Given the description of an element on the screen output the (x, y) to click on. 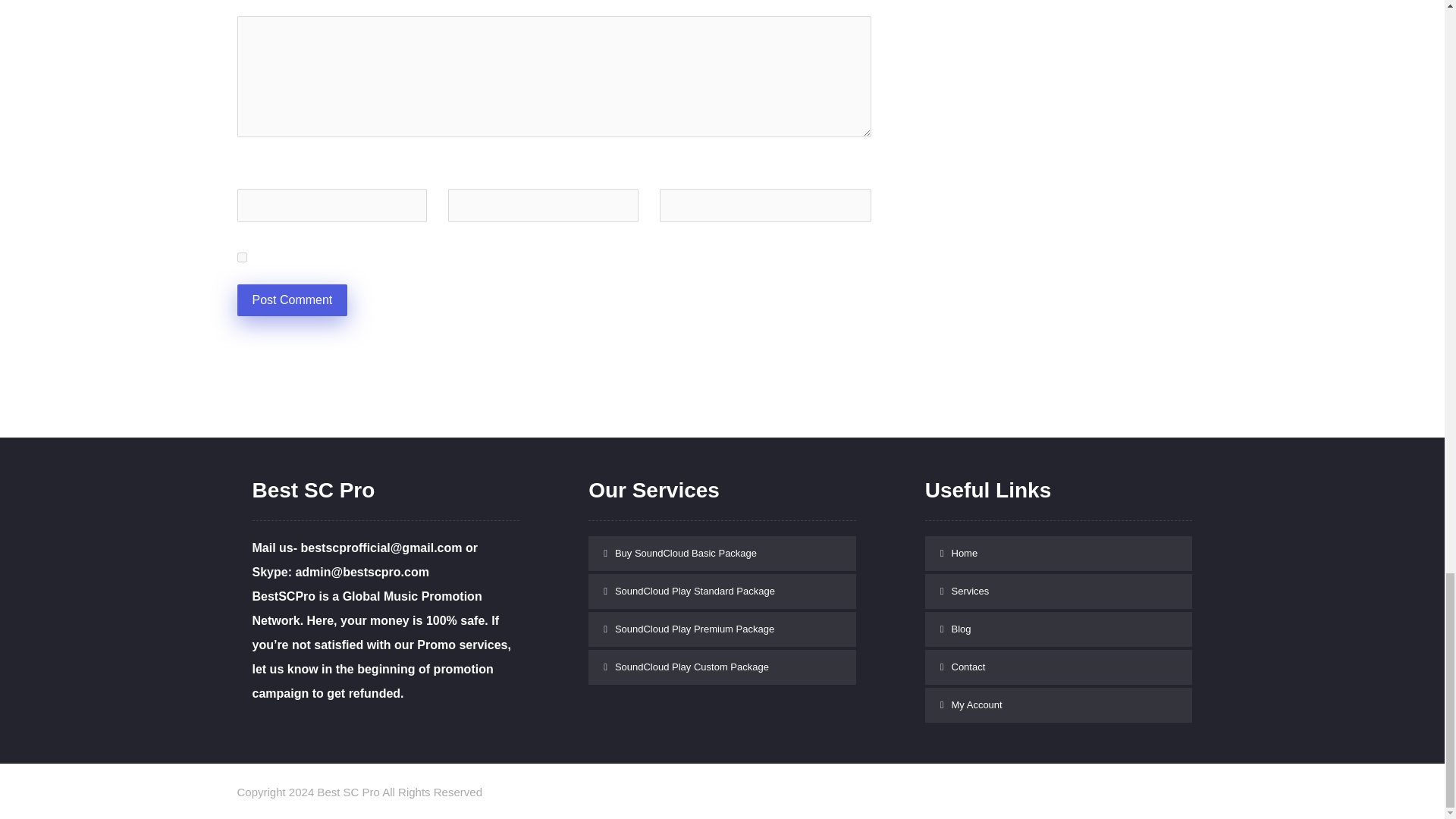
SoundCloud Play Standard Package (722, 591)
Buy SoundCloud Basic Package (722, 553)
SoundCloud Play Custom Package (722, 667)
My Account (1058, 704)
Post Comment (291, 300)
SoundCloud Play Premium Package (722, 629)
yes (240, 257)
Home (1058, 553)
Contact (1058, 667)
Services (1058, 591)
Post Comment (291, 300)
Blog (1058, 629)
